Given the description of an element on the screen output the (x, y) to click on. 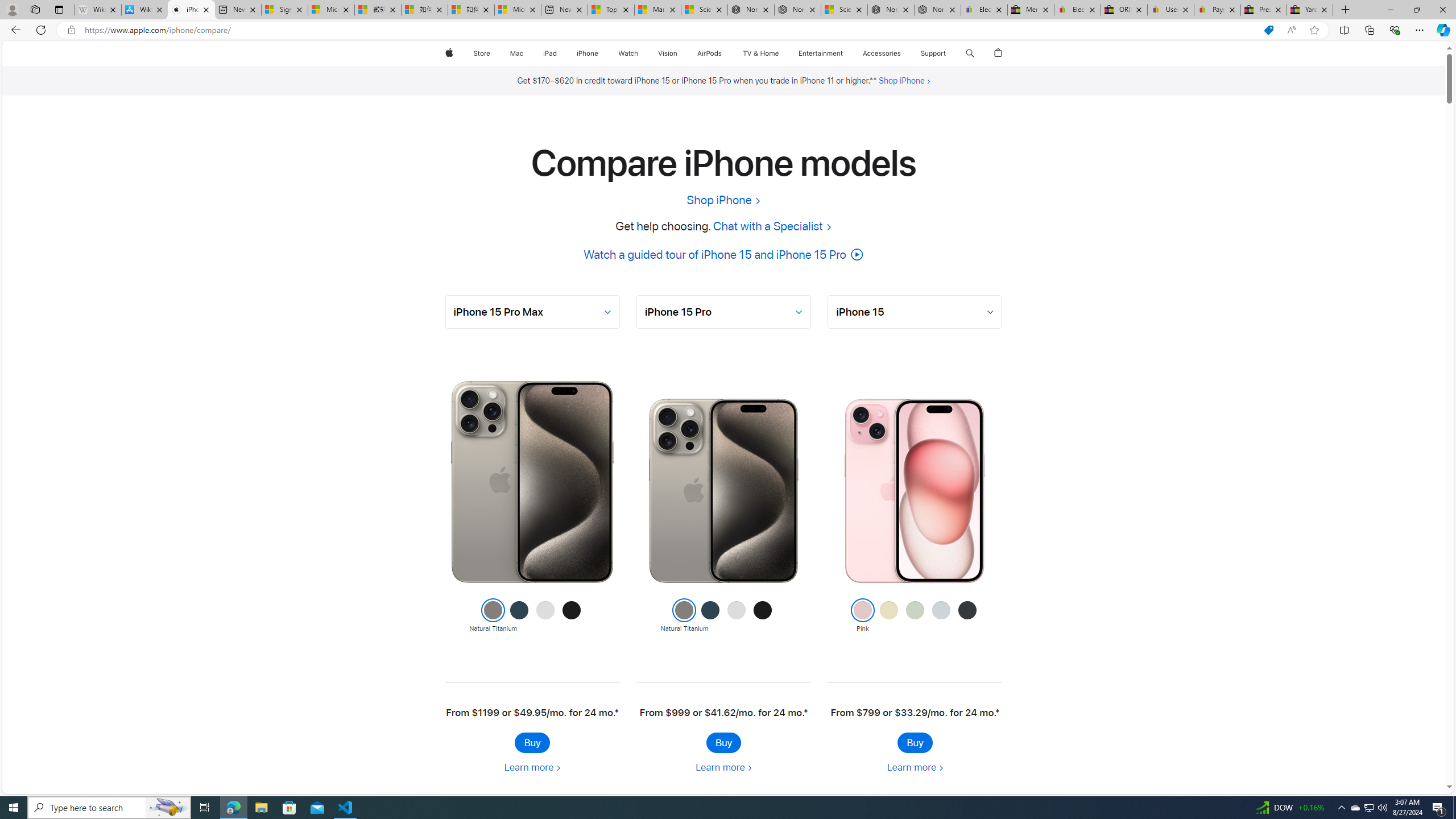
Support menu (948, 53)
AutomationID: selector-1 (723, 311)
Support (932, 53)
White Titanium (736, 615)
Store (481, 53)
AutomationID: selector-2 (914, 311)
Blue (940, 615)
Blue Titanium (710, 615)
Class: colornav-link (967, 610)
Entertainment menu (844, 53)
